Given the description of an element on the screen output the (x, y) to click on. 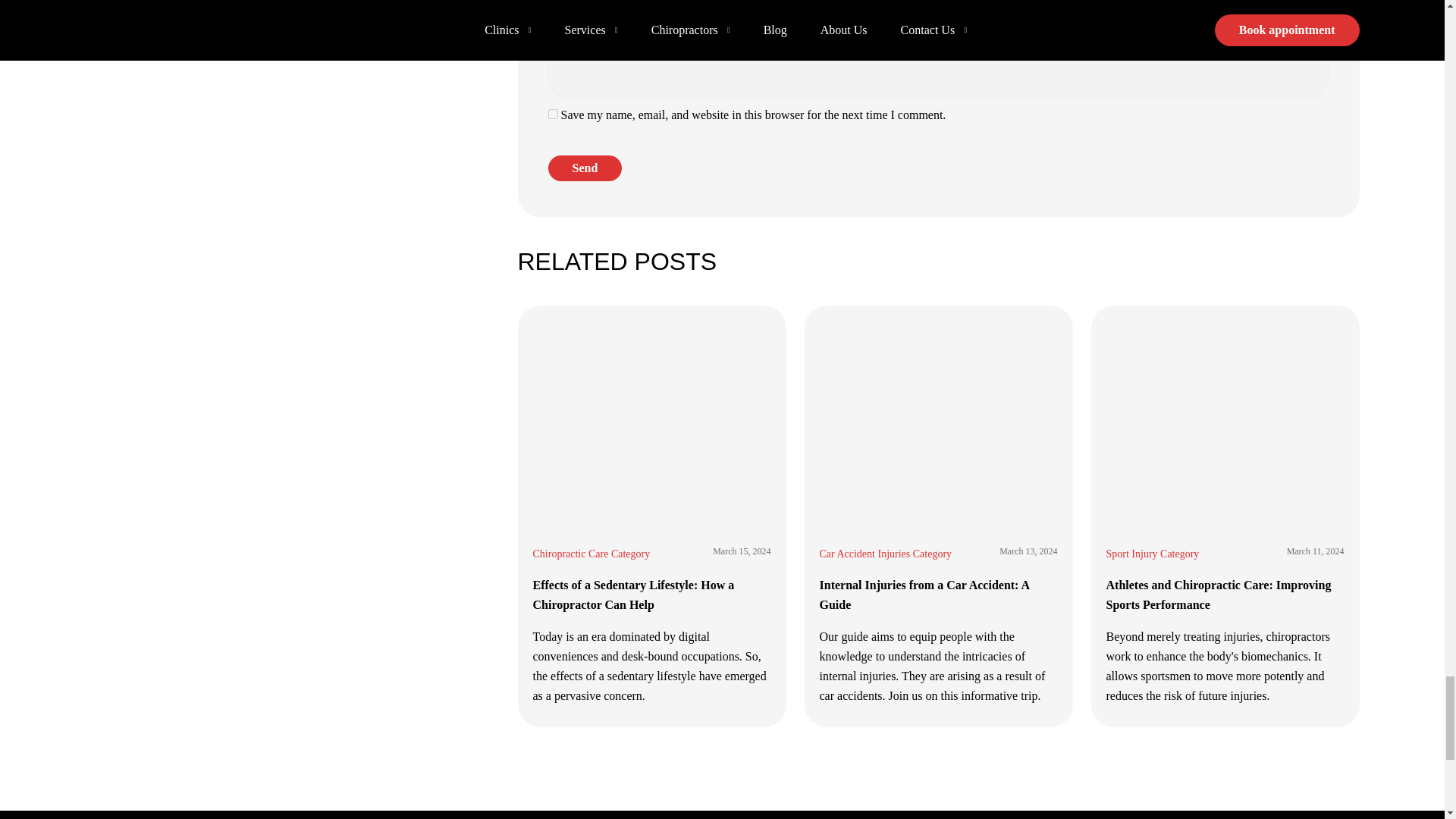
Send (584, 167)
yes (552, 113)
